Given the description of an element on the screen output the (x, y) to click on. 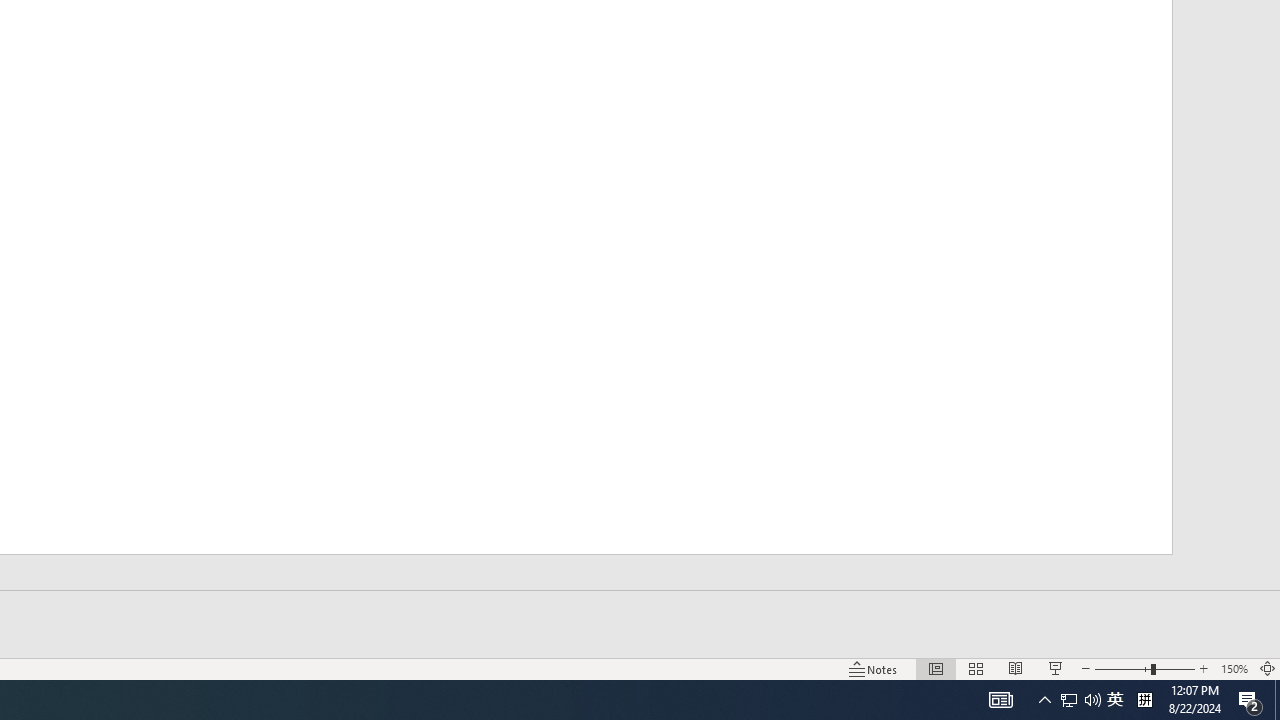
Zoom 150% (1234, 668)
Notes  (874, 668)
